Given the description of an element on the screen output the (x, y) to click on. 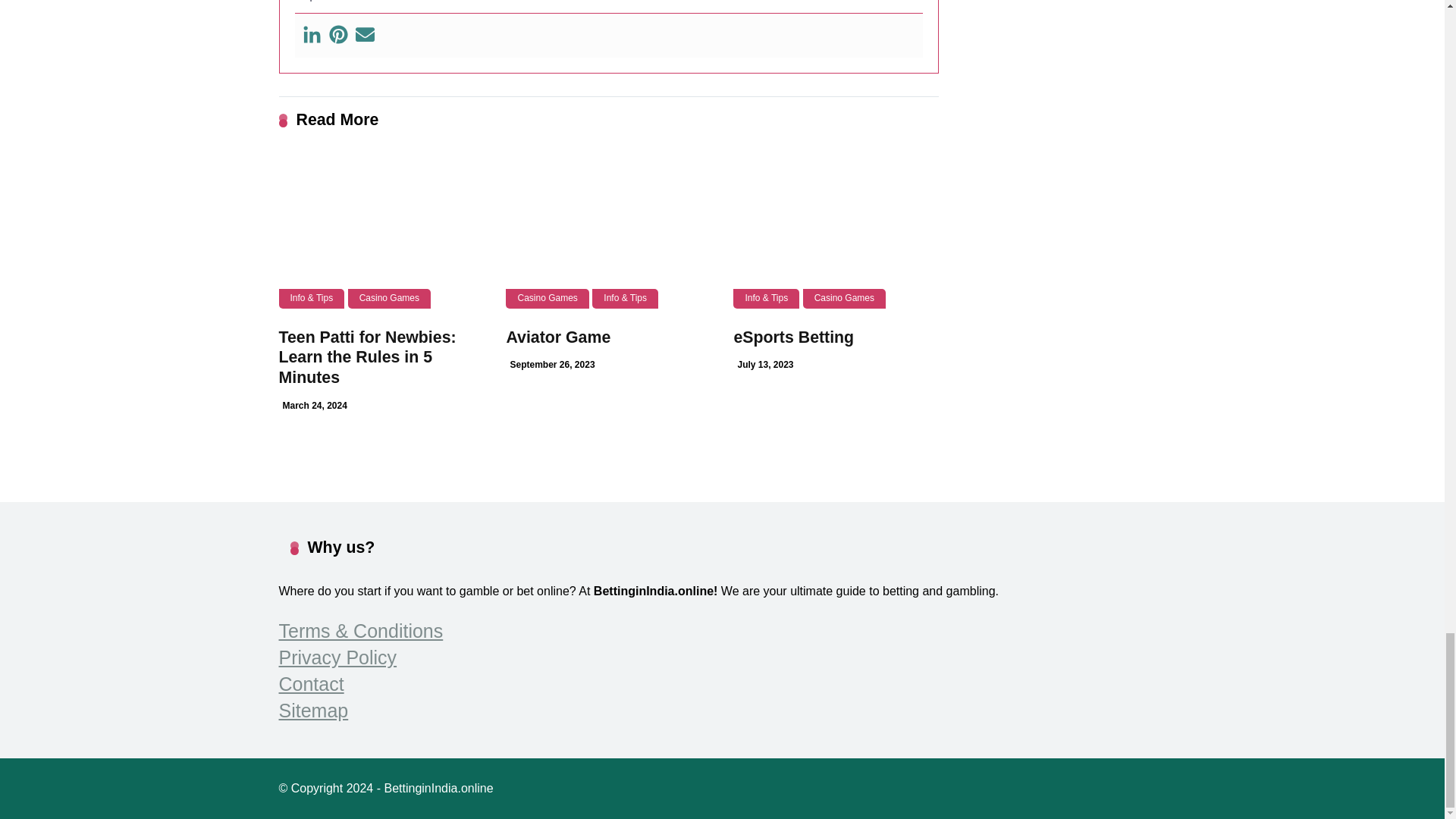
Teen Patti for Newbies: Learn the Rules in 5 Minutes (381, 231)
Pinterest (338, 35)
Aviator Game (557, 337)
User email (364, 35)
Teen Patti for Newbies: Learn the Rules in 5 Minutes (368, 357)
Linkedin (310, 35)
Aviator Game (607, 231)
eSports Betting (835, 231)
